Given the description of an element on the screen output the (x, y) to click on. 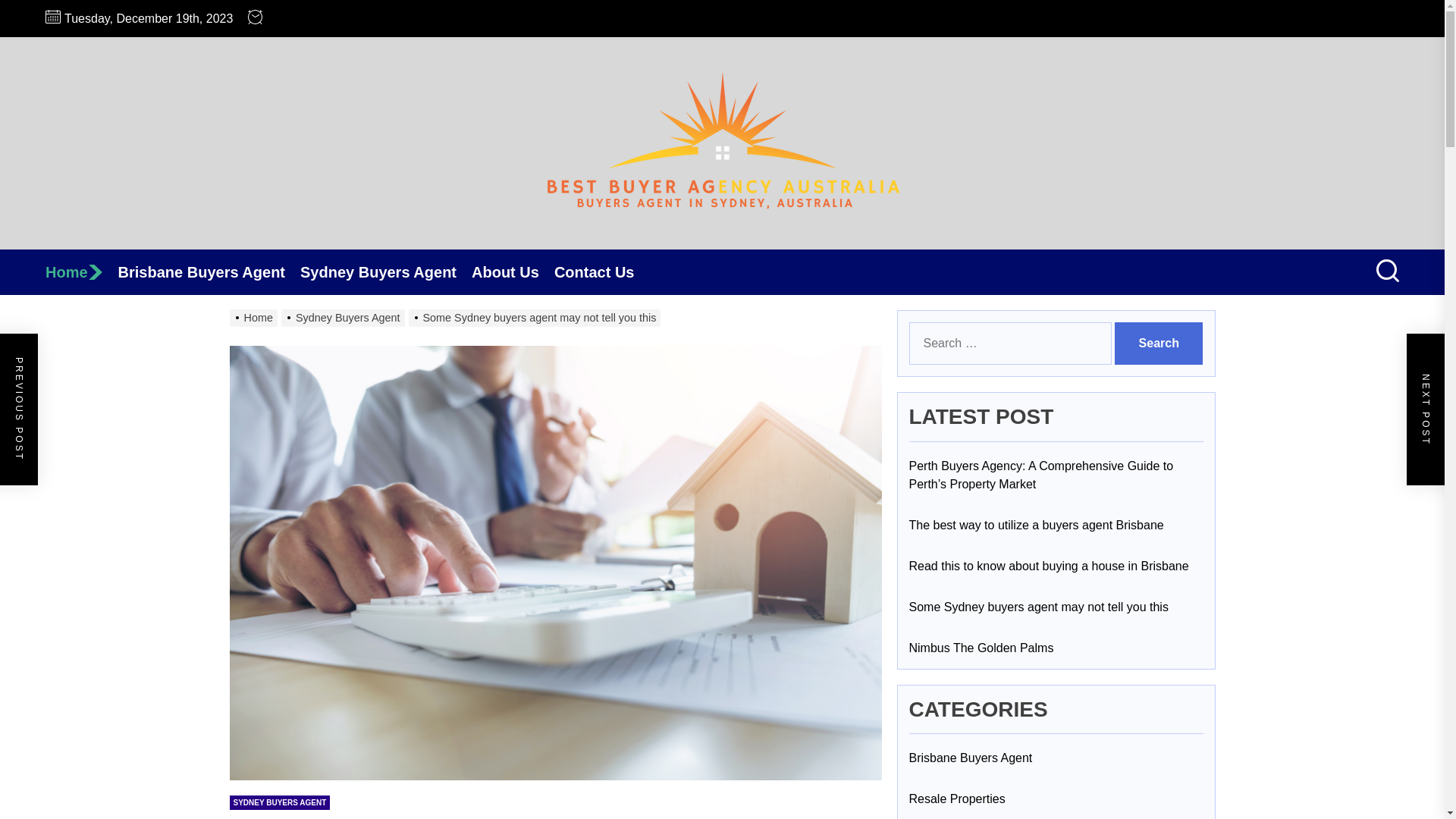
Sydney Buyers Agent (385, 271)
Best Buyer Agency Australia (852, 247)
Home (81, 271)
Search (1158, 343)
Brisbane Buyers Agent (208, 271)
Home (254, 317)
Some Sydney buyers agent may not tell you this (535, 317)
About Us (512, 271)
Sydney Buyers Agent (345, 317)
SYDNEY BUYERS AGENT (279, 802)
Home (81, 271)
Contact Us (601, 271)
Search (1158, 343)
